Given the description of an element on the screen output the (x, y) to click on. 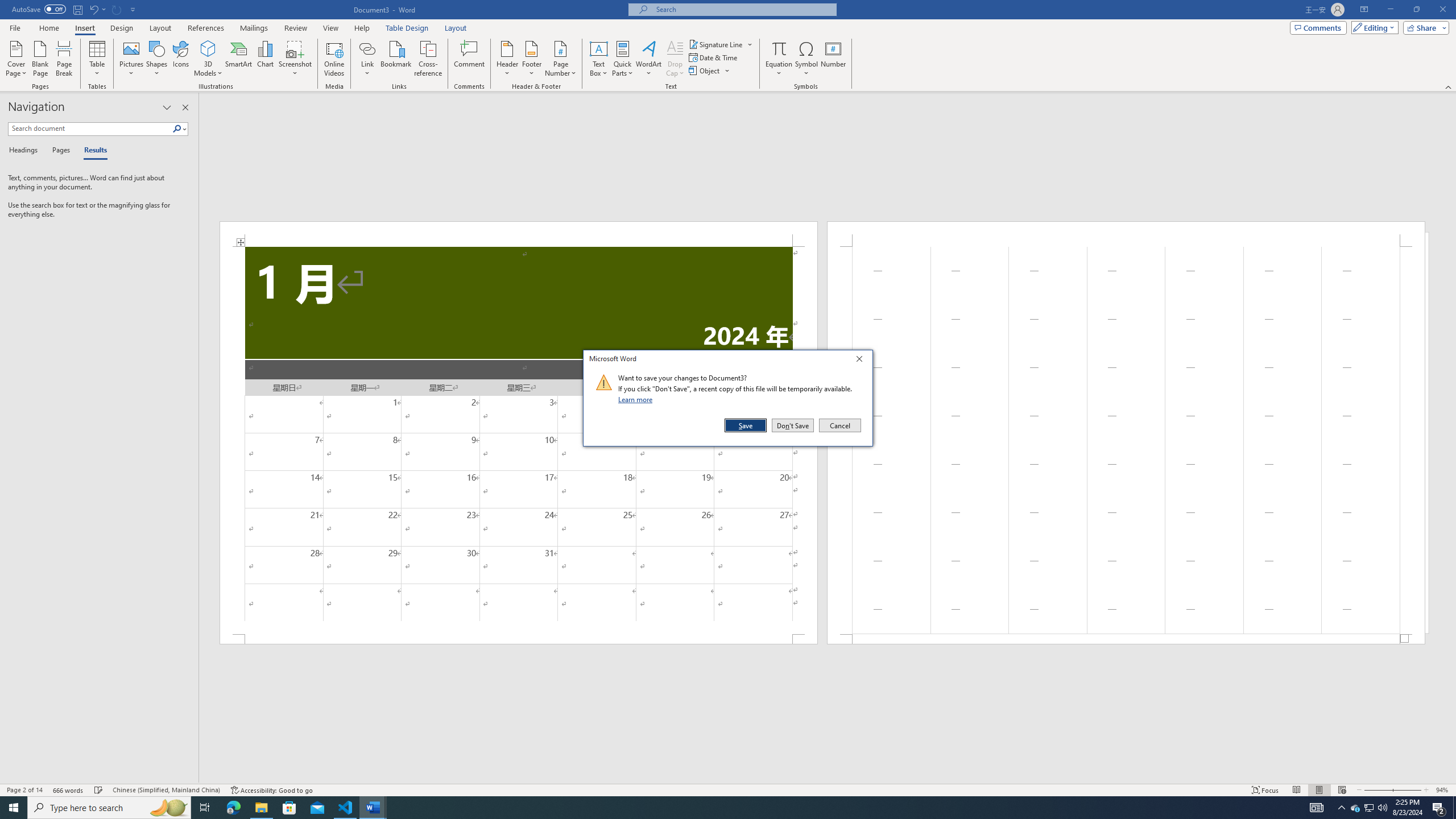
Table (97, 58)
Blank Page (40, 58)
Object... (705, 69)
File Explorer - 1 running window (261, 807)
Quick Parts (622, 58)
